Given the description of an element on the screen output the (x, y) to click on. 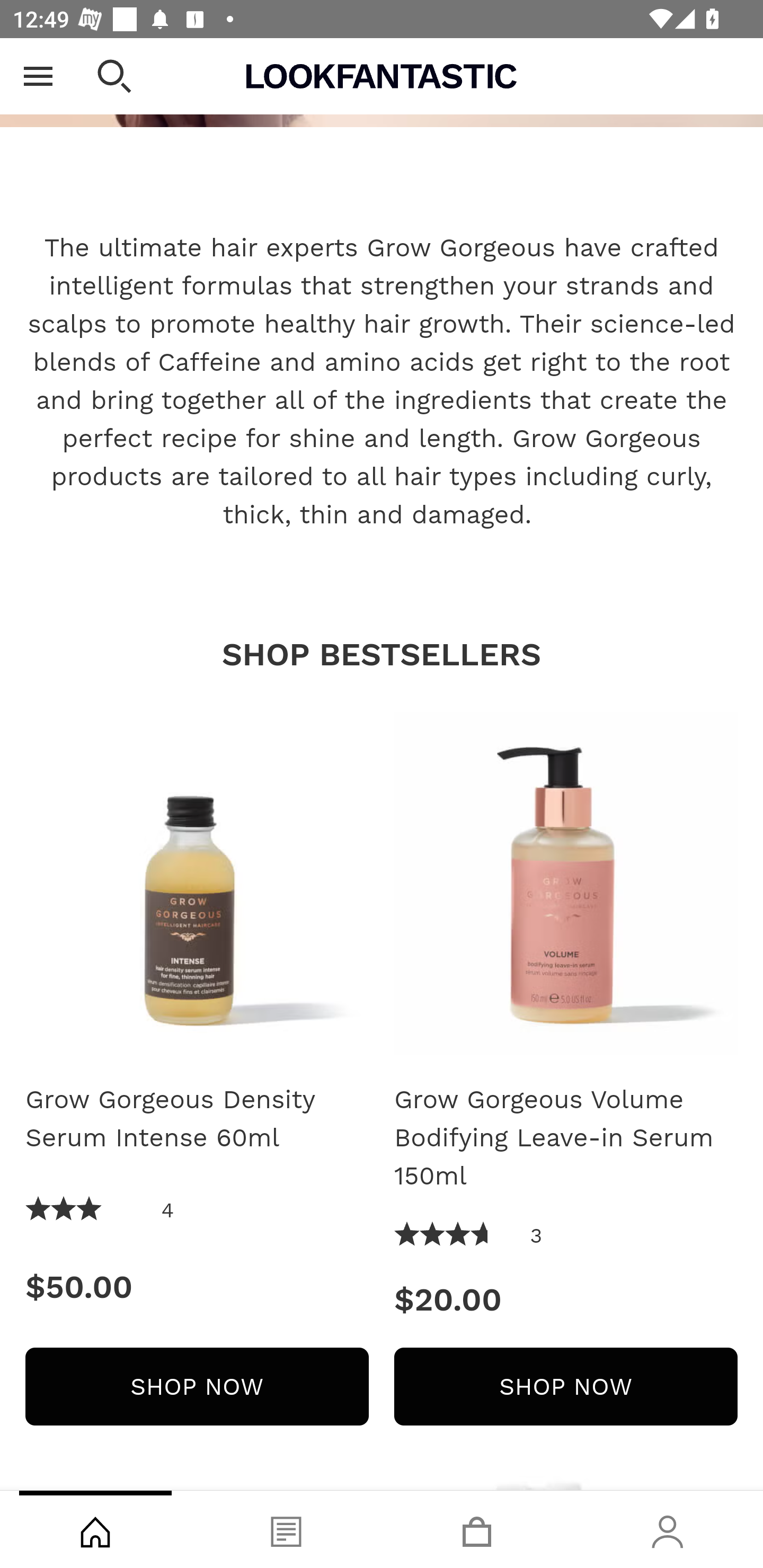
Shop Grow Gorgeous (381, 82)
Grow Gorgeous Density Serum Intense 60ml (196, 883)
Grow Gorgeous Density Serum Intense 60ml (196, 1119)
Shop, tab, 1 of 4 (95, 1529)
Blog, tab, 2 of 4 (285, 1529)
Basket, tab, 3 of 4 (476, 1529)
Account, tab, 4 of 4 (667, 1529)
